Given the description of an element on the screen output the (x, y) to click on. 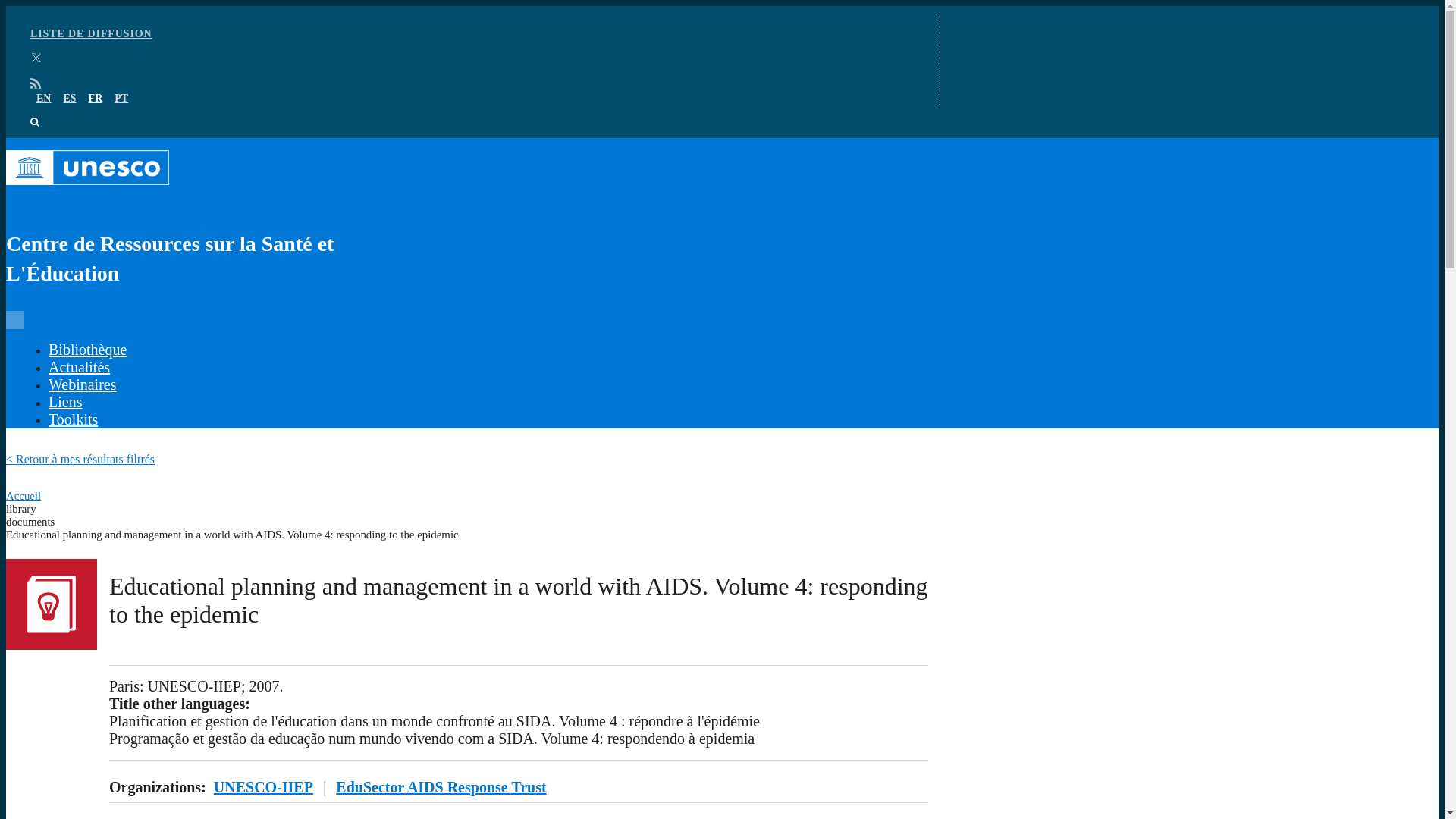
FR (95, 98)
Aller au contenu principal (722, 7)
LISTE DE DIFFUSION (91, 33)
Webinaires (82, 384)
PT (121, 98)
ES (68, 98)
Accueil (22, 495)
Liens (64, 401)
Toolkits (72, 419)
UNESCO-IIEP (263, 786)
EN (43, 98)
EduSector AIDS Response Trust (441, 786)
